Given the description of an element on the screen output the (x, y) to click on. 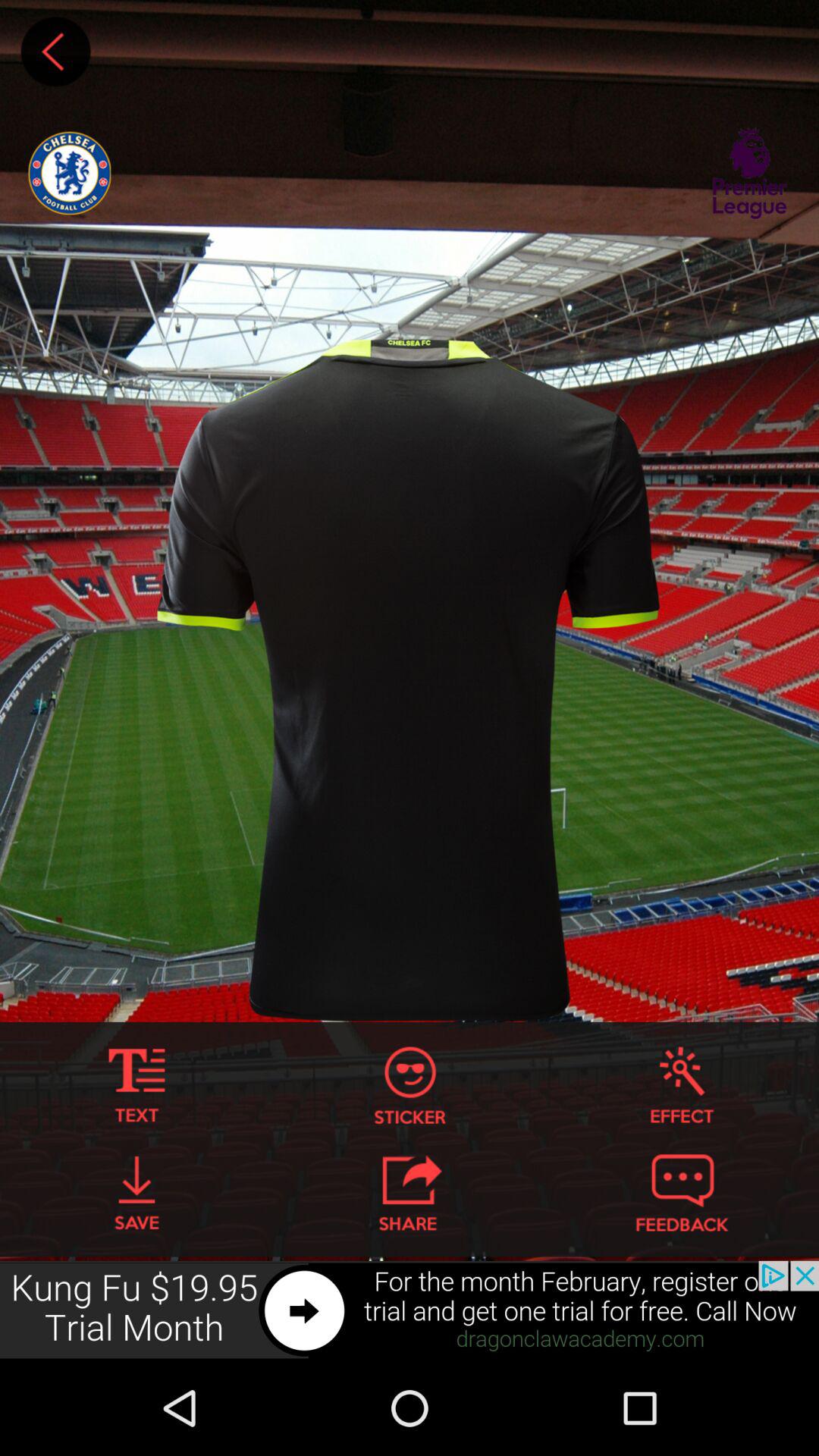
insert feedback (682, 1193)
